Given the description of an element on the screen output the (x, y) to click on. 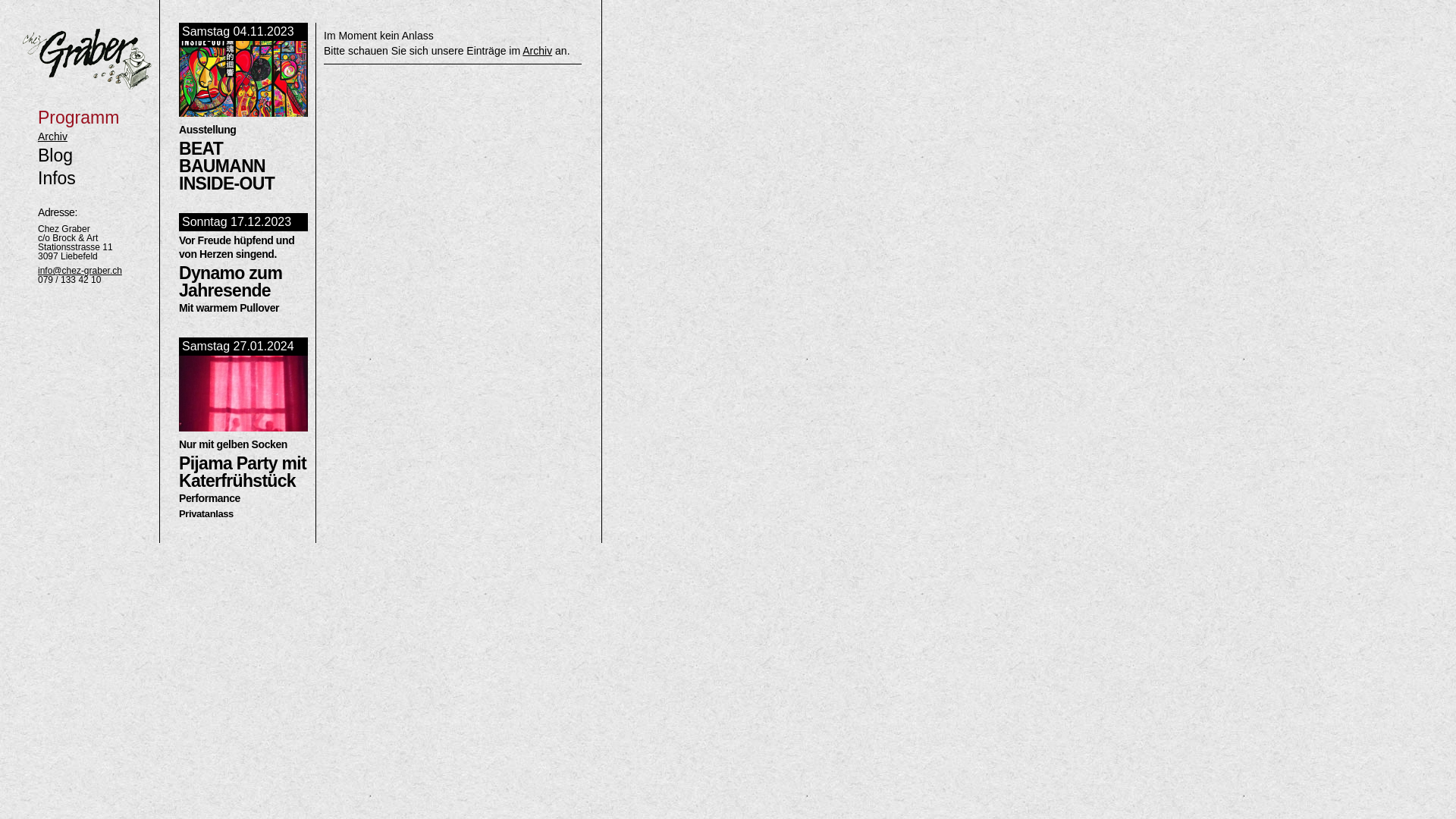
Samstag 04.11.2023
Ausstellung
BEAT BAUMANN INSIDE-OUT Element type: text (242, 107)
Blog Element type: text (54, 155)
Archiv Element type: text (537, 50)
info@chez-graber.ch Element type: text (79, 270)
Programm Element type: text (78, 117)
Infos Element type: text (56, 177)
Archiv Element type: text (52, 136)
